Given the description of an element on the screen output the (x, y) to click on. 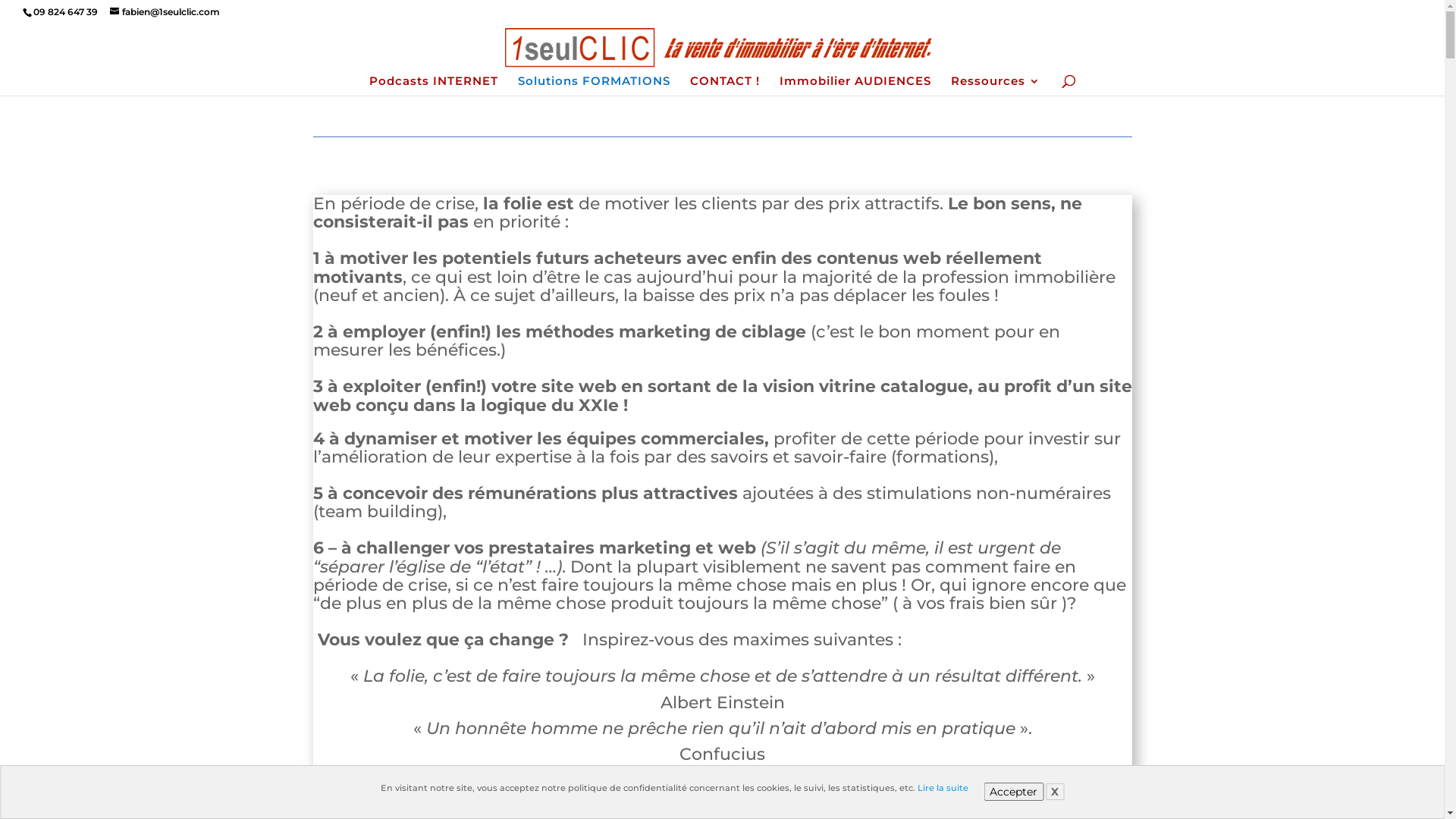
Solutions FORMATIONS Element type: text (593, 85)
Accepter Element type: text (1013, 791)
Lire la suite Element type: text (942, 787)
Podcasts INTERNET Element type: text (433, 85)
fabien@1seulclic.com Element type: text (164, 11)
Immobilier AUDIENCES Element type: text (855, 85)
Ressources Element type: text (995, 85)
X Element type: text (1054, 791)
CONTACT ! Element type: text (724, 85)
